Given the description of an element on the screen output the (x, y) to click on. 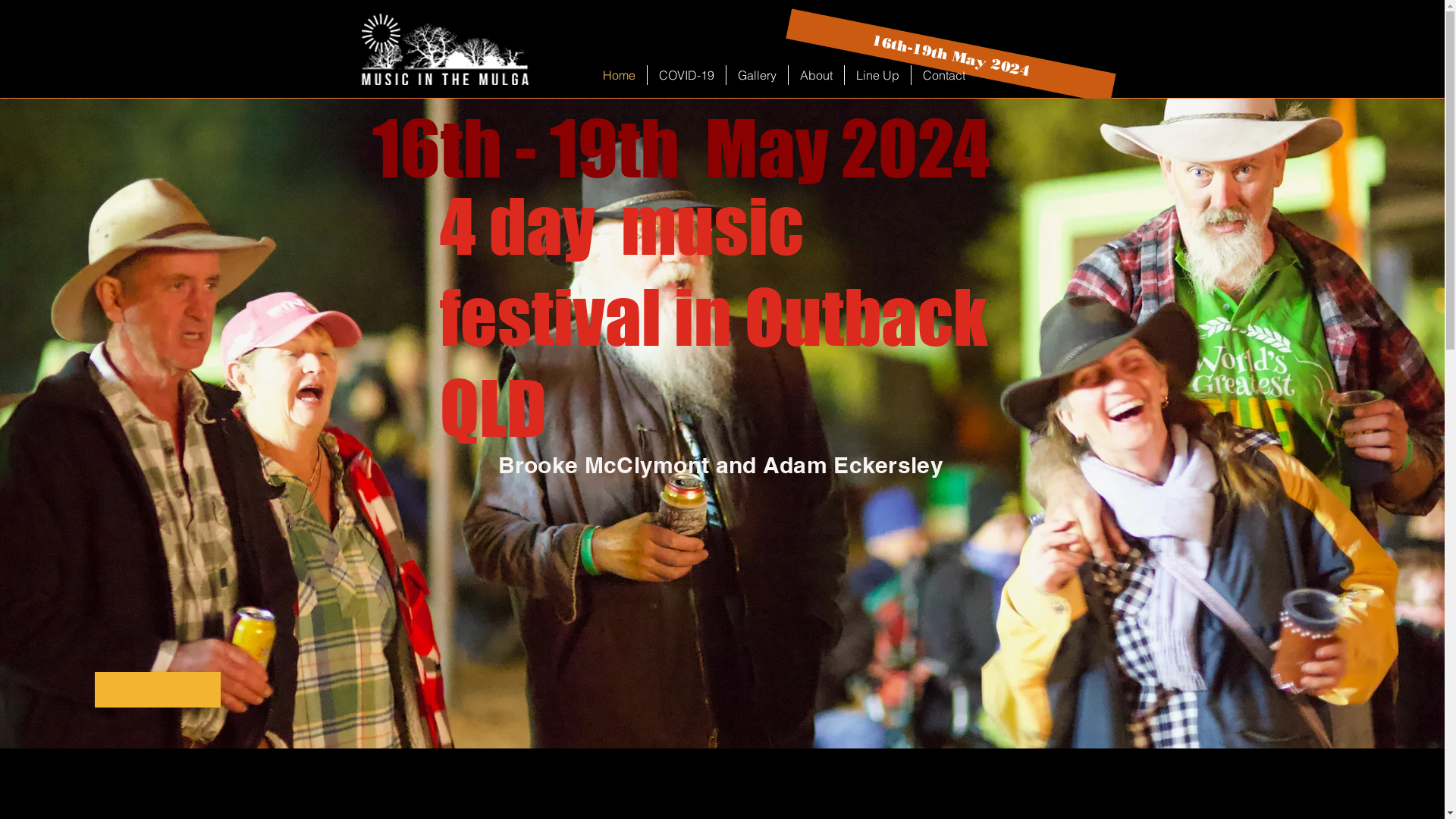
About Element type: text (816, 74)
COVID-19 Element type: text (686, 74)
16th-19th May 2024 Element type: text (950, 24)
Gallery Element type: text (756, 74)
Home Element type: text (618, 74)
Contact Element type: text (943, 74)
